Given the description of an element on the screen output the (x, y) to click on. 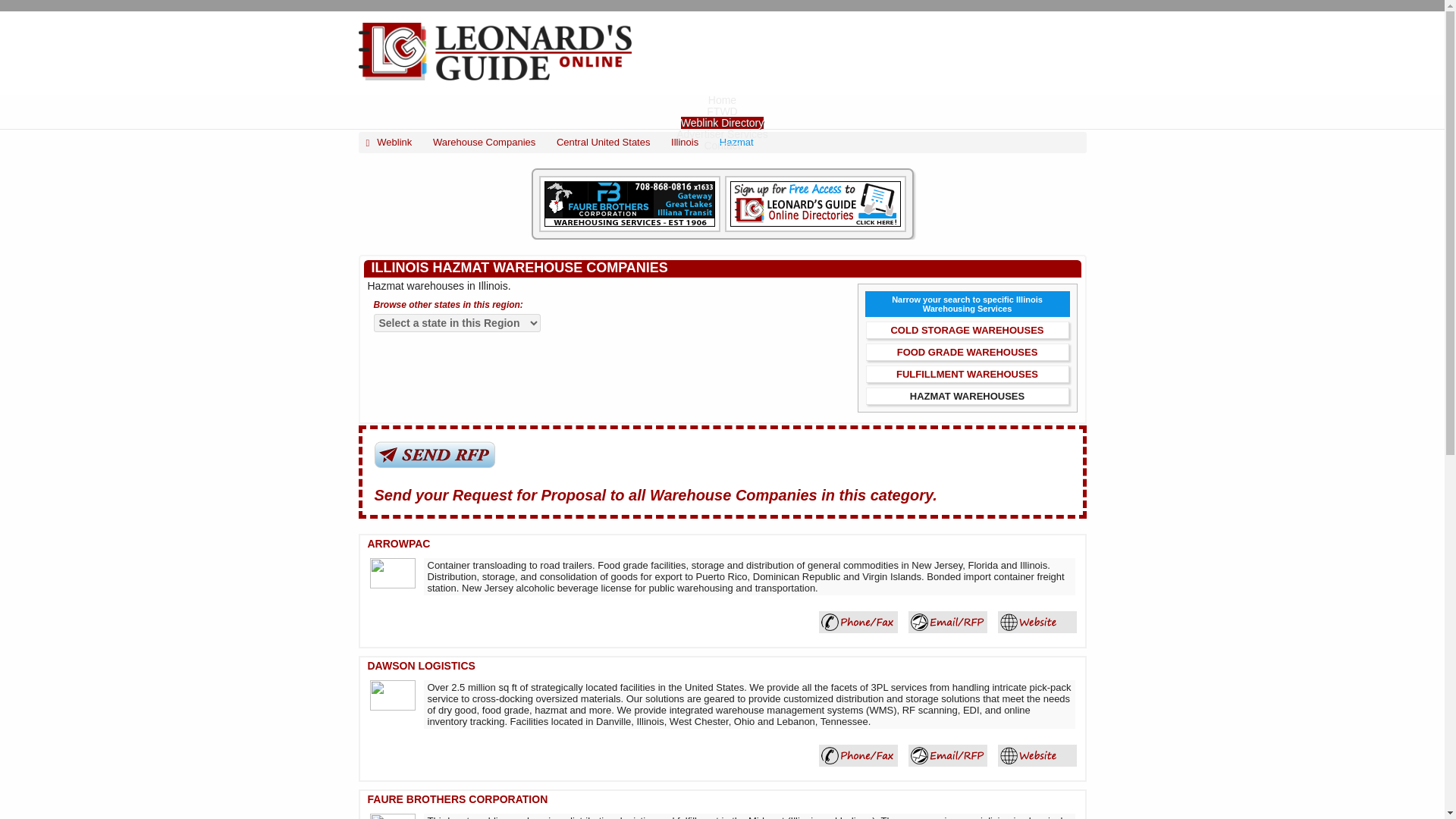
ARROWPAC (1037, 621)
FULFILLMENT WAREHOUSES (967, 374)
FTWD (721, 111)
Illinois (684, 142)
Illinois (684, 142)
FOOD GRADE WAREHOUSES (967, 351)
Warehouse Companies (483, 142)
COLD STORAGE WAREHOUSES (966, 329)
ARROWPAC (397, 543)
Central United States (603, 142)
Home (721, 100)
Weblink (388, 142)
Warehouse Companies (483, 142)
Advertiser Services (722, 133)
Weblink Directory (721, 122)
